Given the description of an element on the screen output the (x, y) to click on. 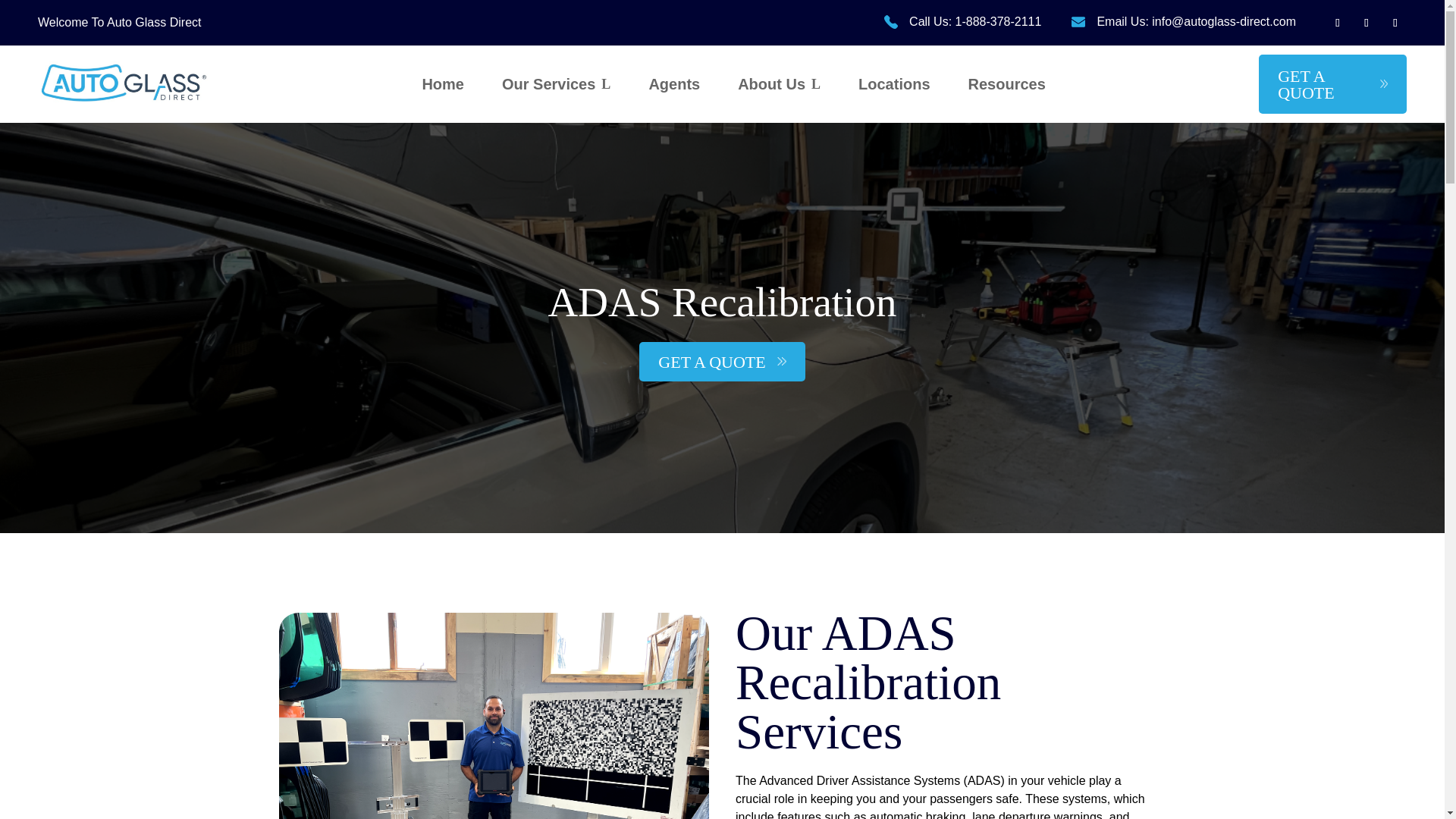
About Us (779, 84)
Locations (894, 84)
Follow on LinkedIn (1366, 22)
GET A QUOTE (1332, 83)
1-888-378-2111 (998, 21)
Follow on Facebook (1337, 22)
Our Services (556, 84)
GET A QUOTE (722, 361)
Resources (1006, 84)
Agents (673, 84)
